Given the description of an element on the screen output the (x, y) to click on. 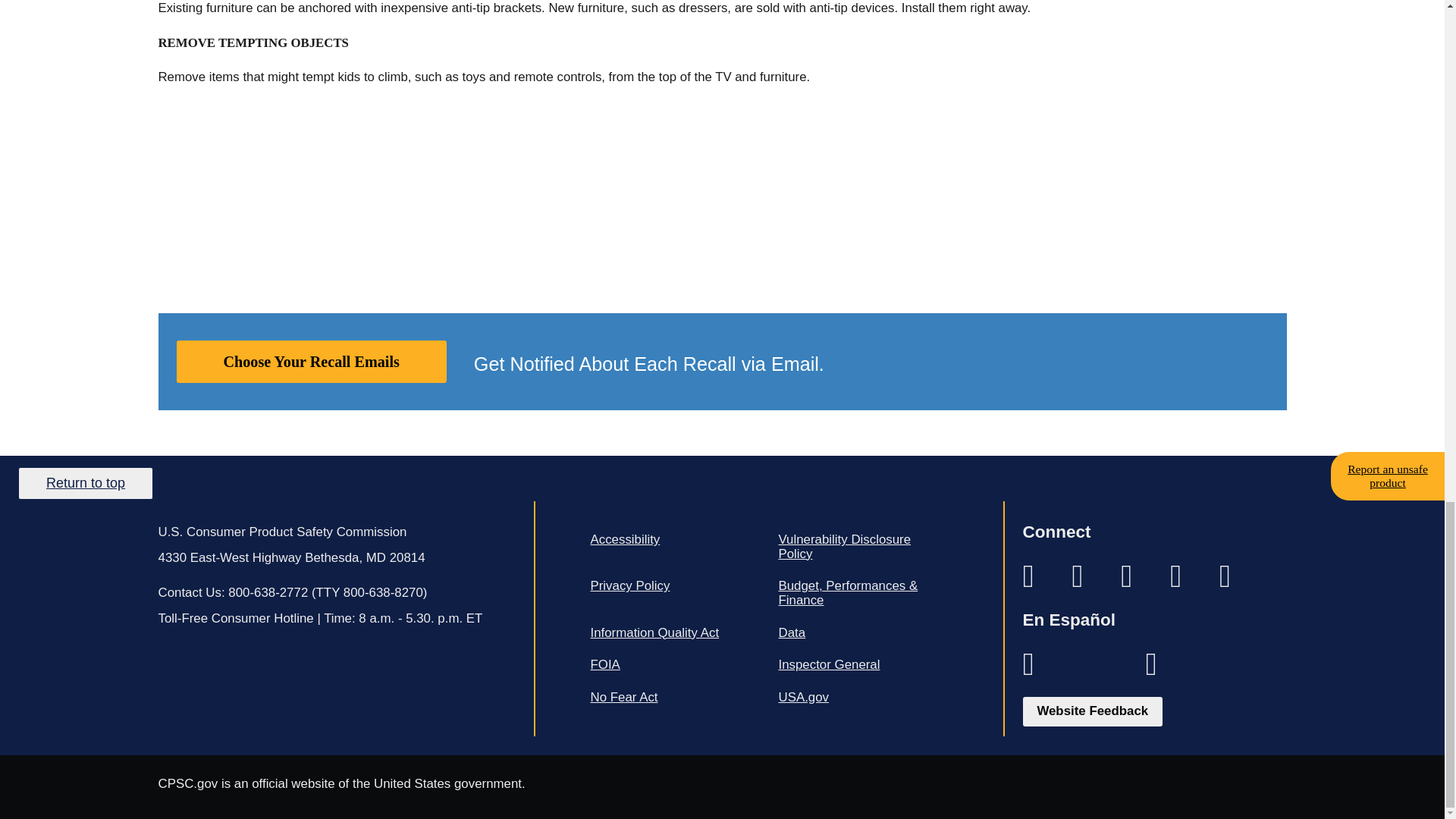
Privacy Policy (674, 586)
Vulnerability Disclosure Policy (862, 547)
Return to top (84, 482)
Accessibility (674, 540)
Choose Your Recall Emails (310, 361)
